Given the description of an element on the screen output the (x, y) to click on. 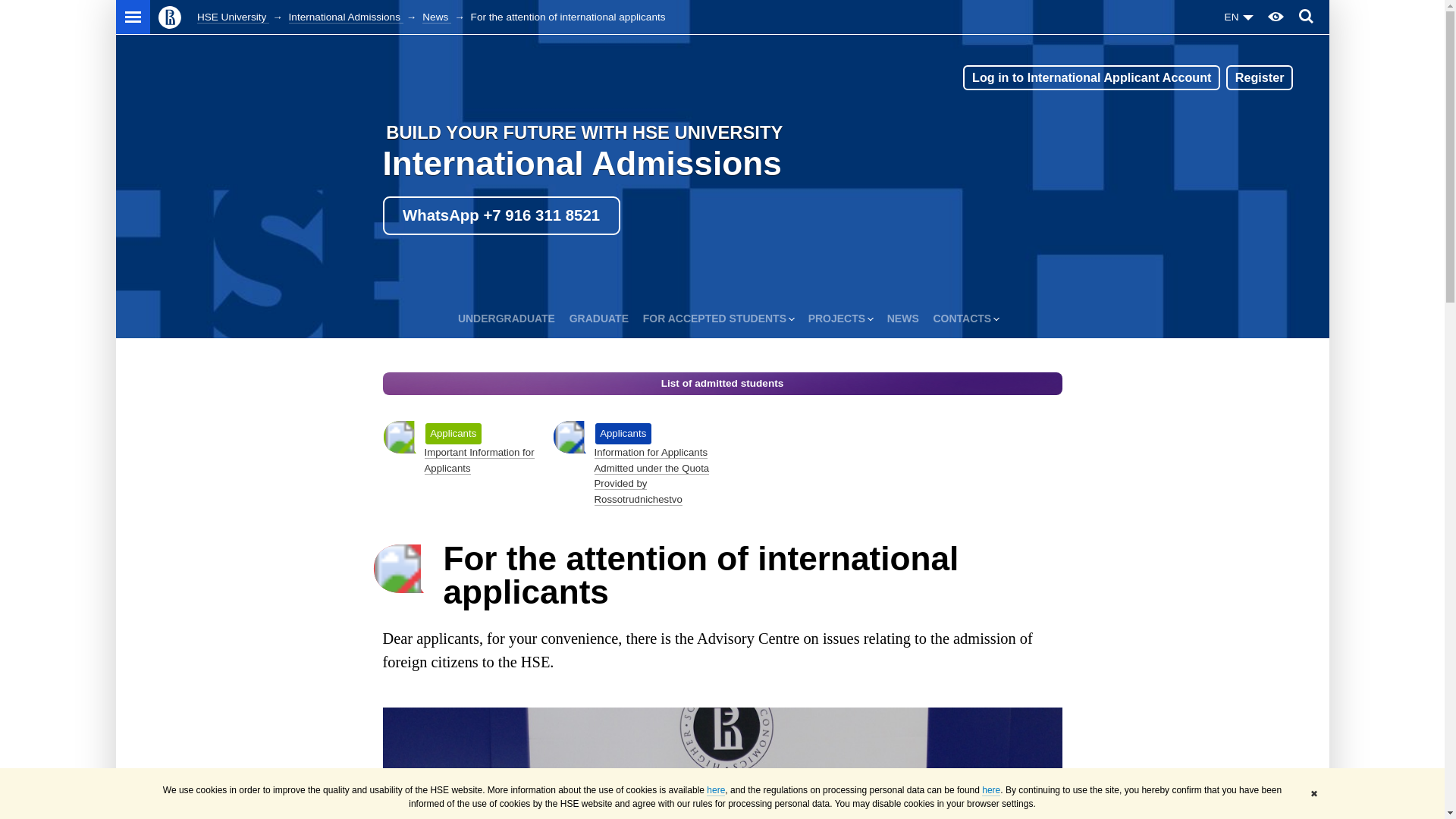
GRADUATE (598, 318)
International Admissions (345, 17)
here (990, 790)
International Admissions (580, 162)
UNDERGRADUATE (506, 318)
Log in to International Applicant Account (1091, 77)
For visually-impaired (1276, 17)
Search (1306, 17)
For the attention of international applicants (721, 763)
Register (1258, 77)
HSE University (232, 17)
News (436, 17)
here (715, 790)
